Given the description of an element on the screen output the (x, y) to click on. 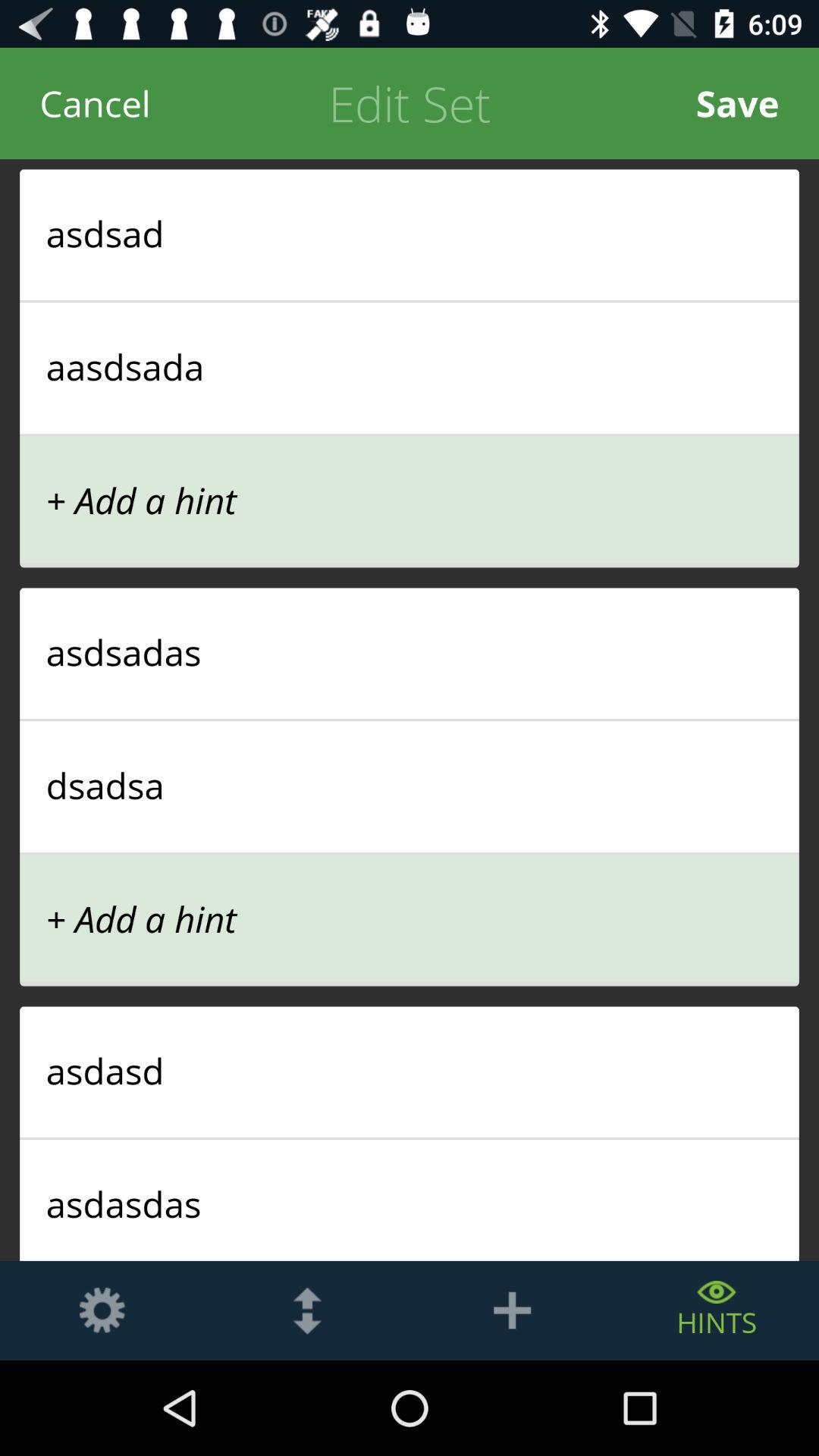
scroll to asdasdas icon (409, 1203)
